Given the description of an element on the screen output the (x, y) to click on. 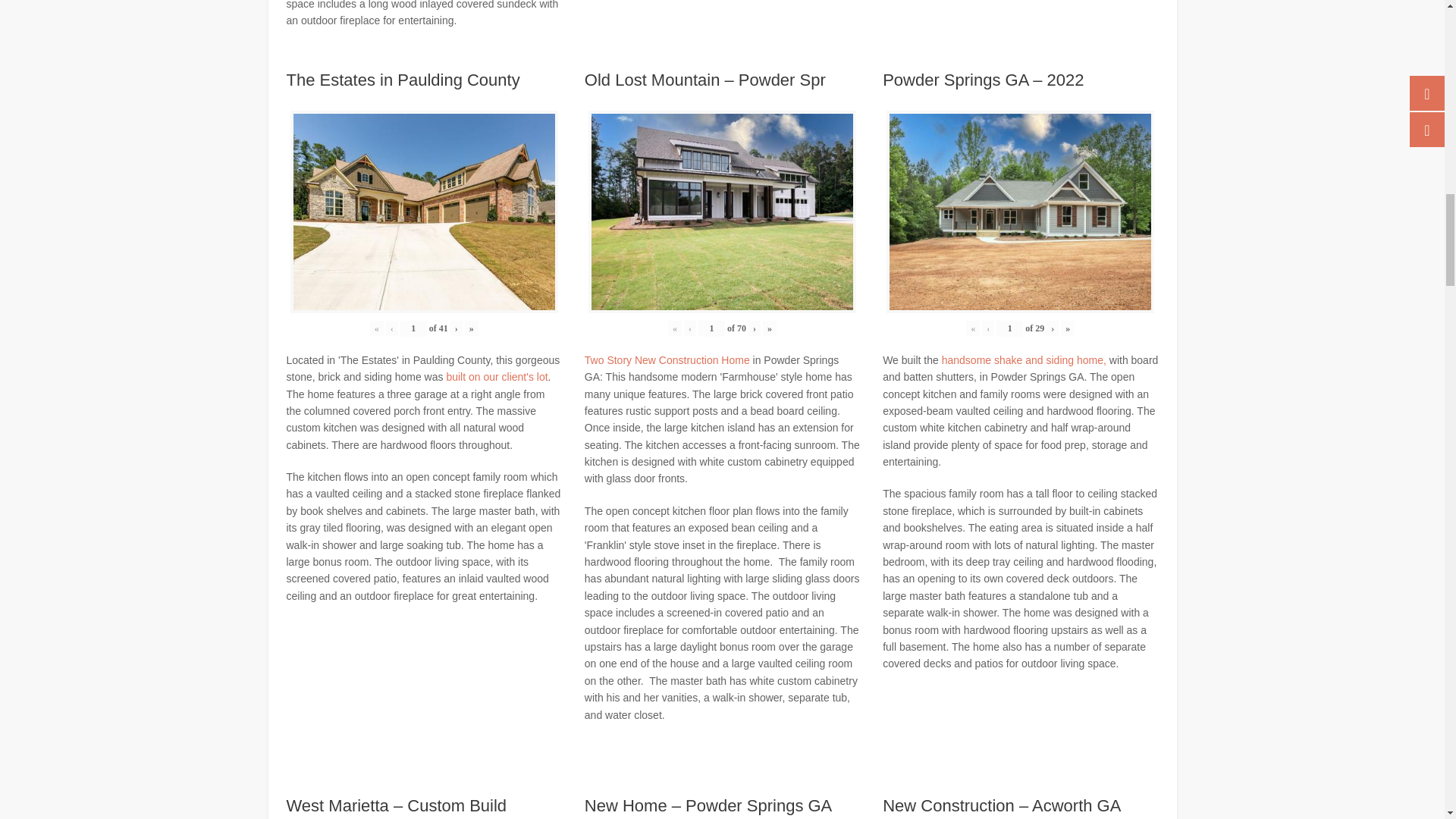
1 (711, 328)
1 (1009, 328)
1 (413, 328)
